Given the description of an element on the screen output the (x, y) to click on. 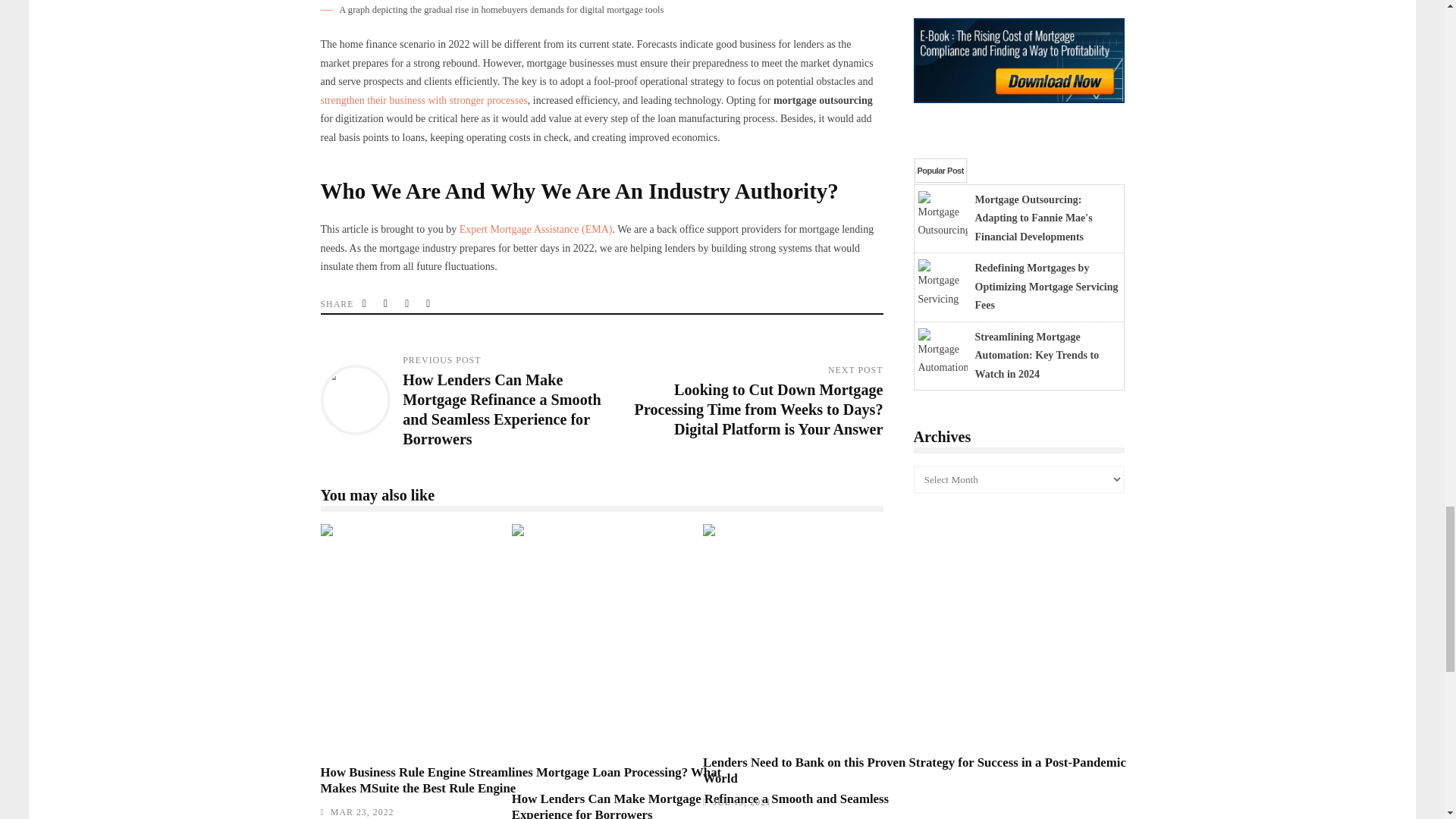
Pin this! (429, 303)
Pin this! (429, 303)
Share on LinkedIn (407, 303)
strengthen their business with stronger processes (423, 100)
Share on Facebook (386, 303)
